Given the description of an element on the screen output the (x, y) to click on. 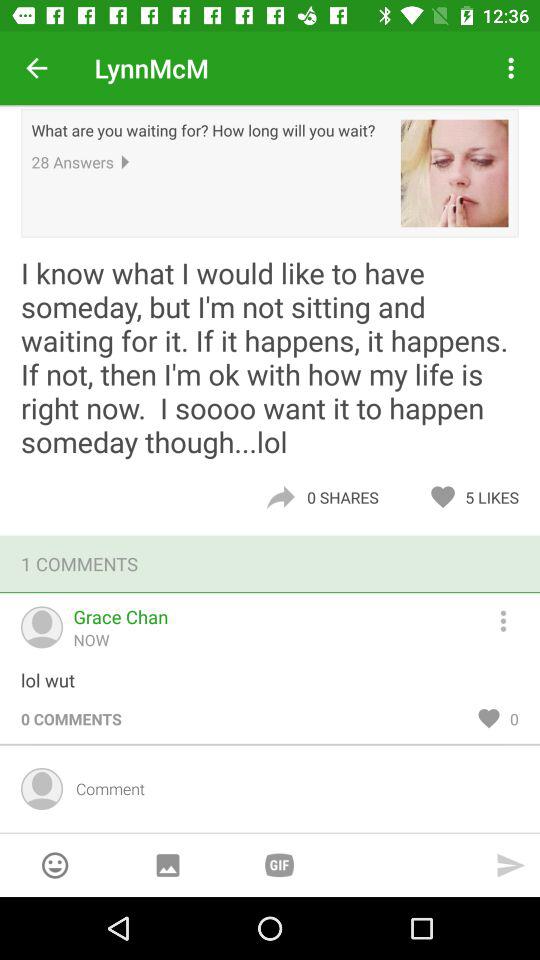
launch icon to the right of the what are you icon (454, 173)
